Given the description of an element on the screen output the (x, y) to click on. 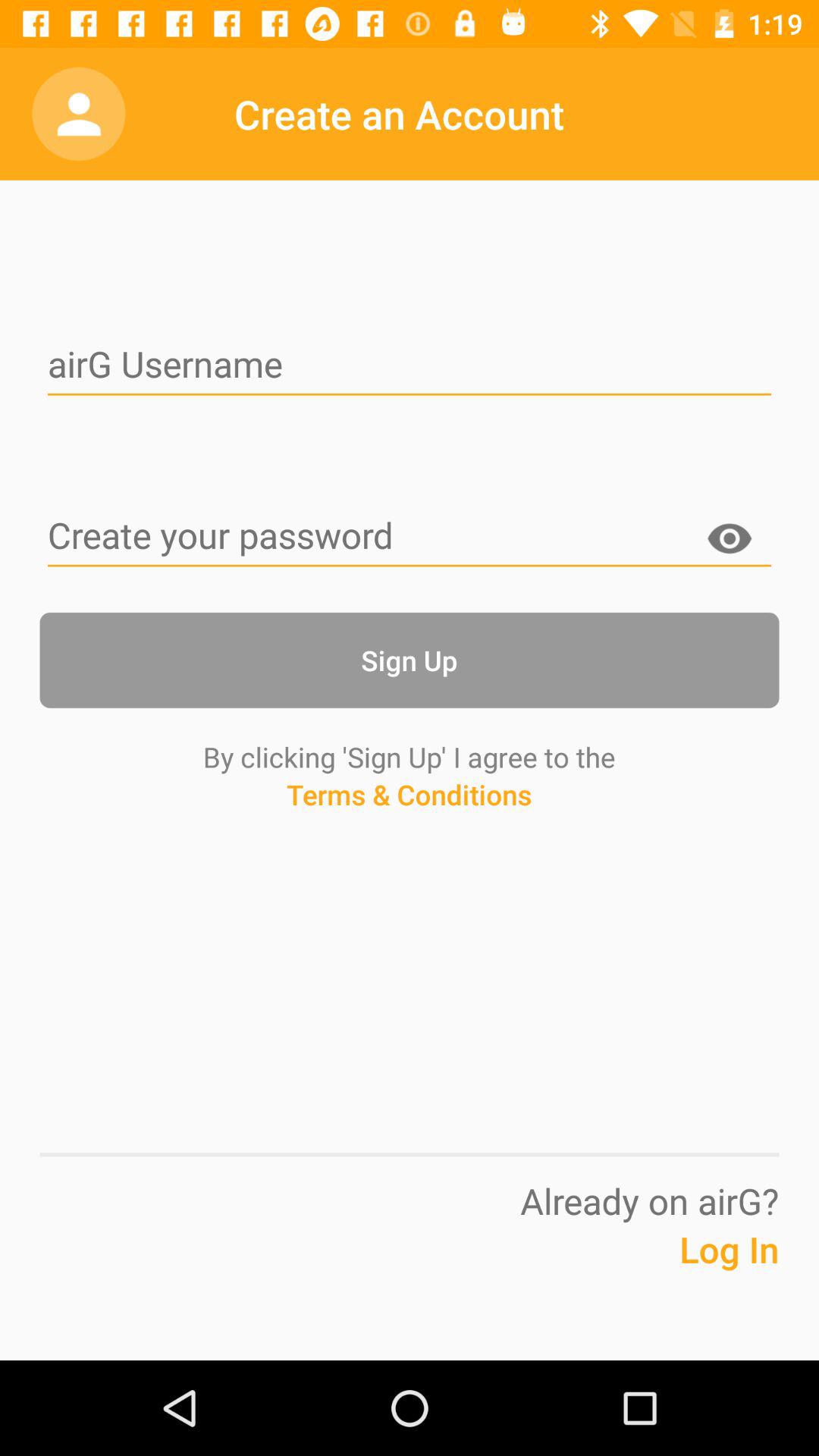
press the item above the sign up button (729, 541)
